Given the description of an element on the screen output the (x, y) to click on. 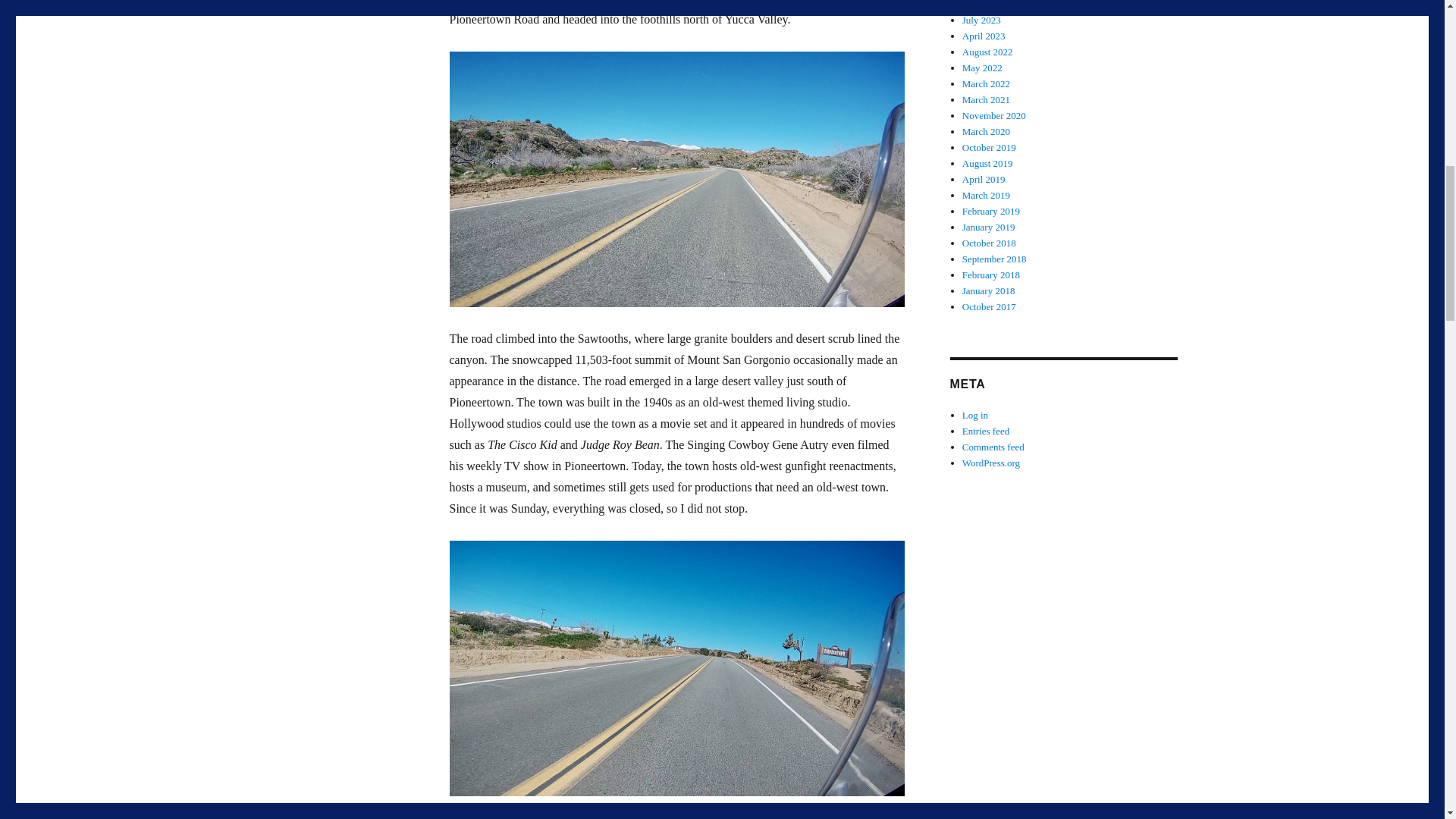
November 2020 (994, 115)
April 2023 (984, 35)
January 2019 (988, 226)
Comments feed (993, 446)
March 2021 (986, 99)
July 2023 (981, 19)
March 2019 (986, 194)
April 2019 (984, 179)
October 2018 (989, 242)
March 2020 (986, 131)
May 2022 (982, 67)
August 2019 (987, 163)
January 2018 (988, 290)
WordPress.org (991, 462)
Log in (975, 414)
